Given the description of an element on the screen output the (x, y) to click on. 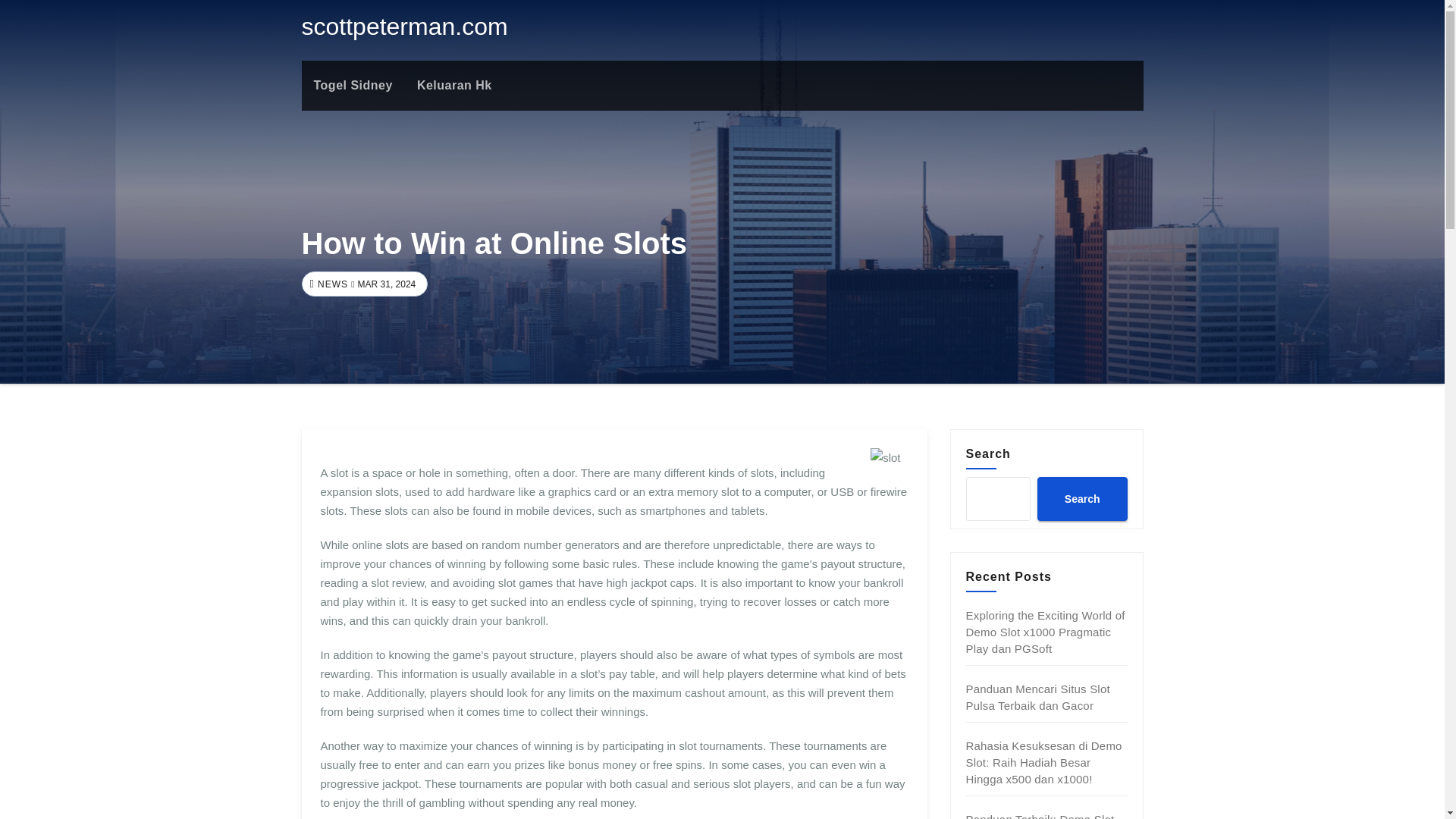
Search (1081, 498)
Panduan Mencari Situs Slot Pulsa Terbaik dan Gacor (1037, 696)
Keluaran Hk (453, 85)
NEWS (330, 284)
Keluaran Hk (453, 85)
togel sidney (352, 85)
Togel Sidney (352, 85)
scottpeterman.com (404, 26)
